Given the description of an element on the screen output the (x, y) to click on. 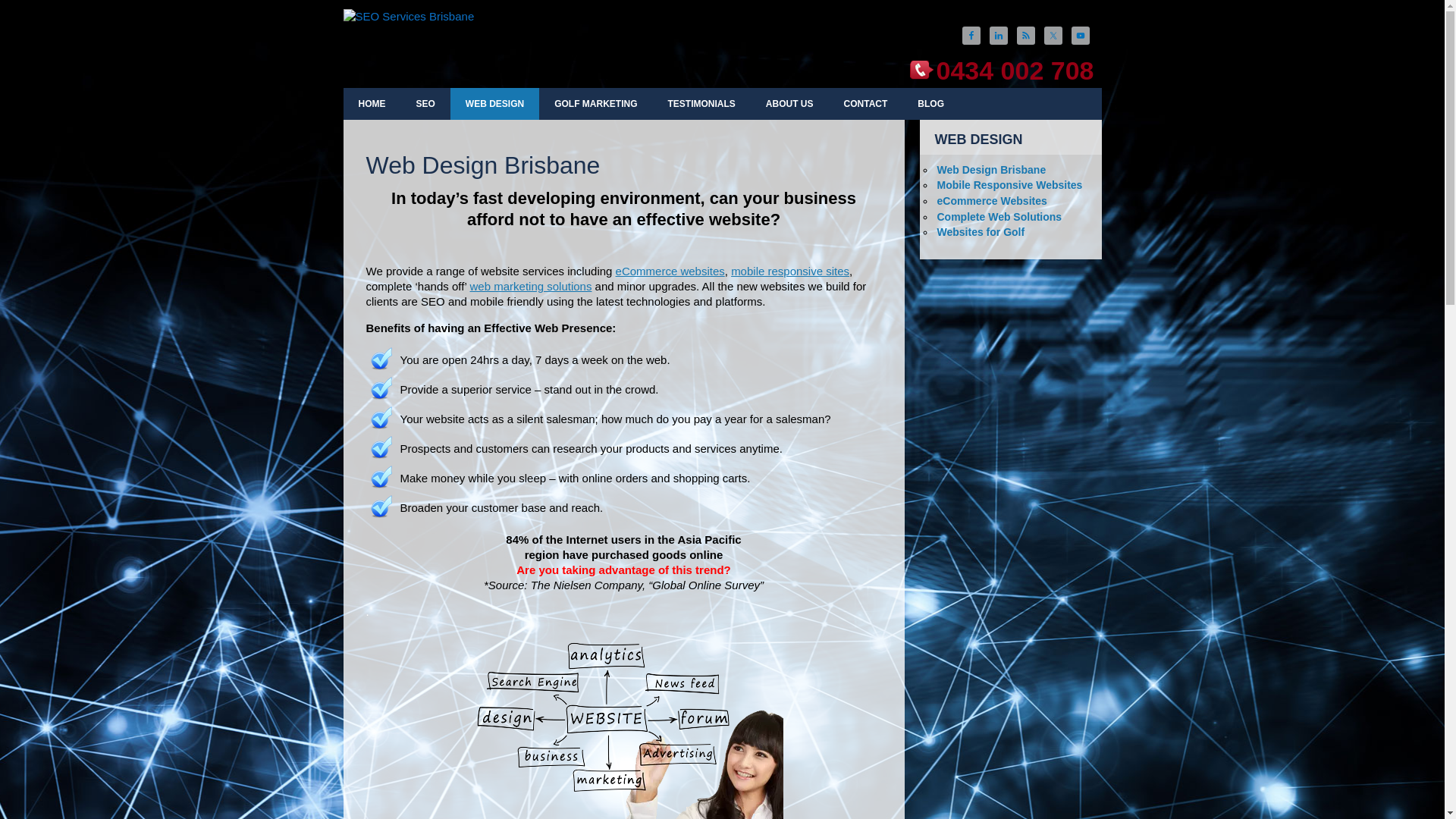
Complete Web Solutions Element type: text (999, 216)
Web Design Brisbane Element type: text (991, 169)
TESTIMONIALS Element type: text (701, 103)
GOLF MARKETING Element type: text (595, 103)
mobile responsive sites Element type: text (790, 270)
eCommerce Websites Element type: text (992, 200)
Websites for Golf Element type: text (981, 231)
ABOUT US Element type: text (789, 103)
Mobile Responsive Websites Element type: text (1009, 184)
web marketing solutions Element type: text (531, 285)
eCommerce websites Element type: text (669, 270)
WEB DESIGN Element type: text (494, 103)
BLOG Element type: text (930, 103)
CONTACT Element type: text (865, 103)
HOME Element type: text (371, 103)
SEO Element type: text (424, 103)
